Given the description of an element on the screen output the (x, y) to click on. 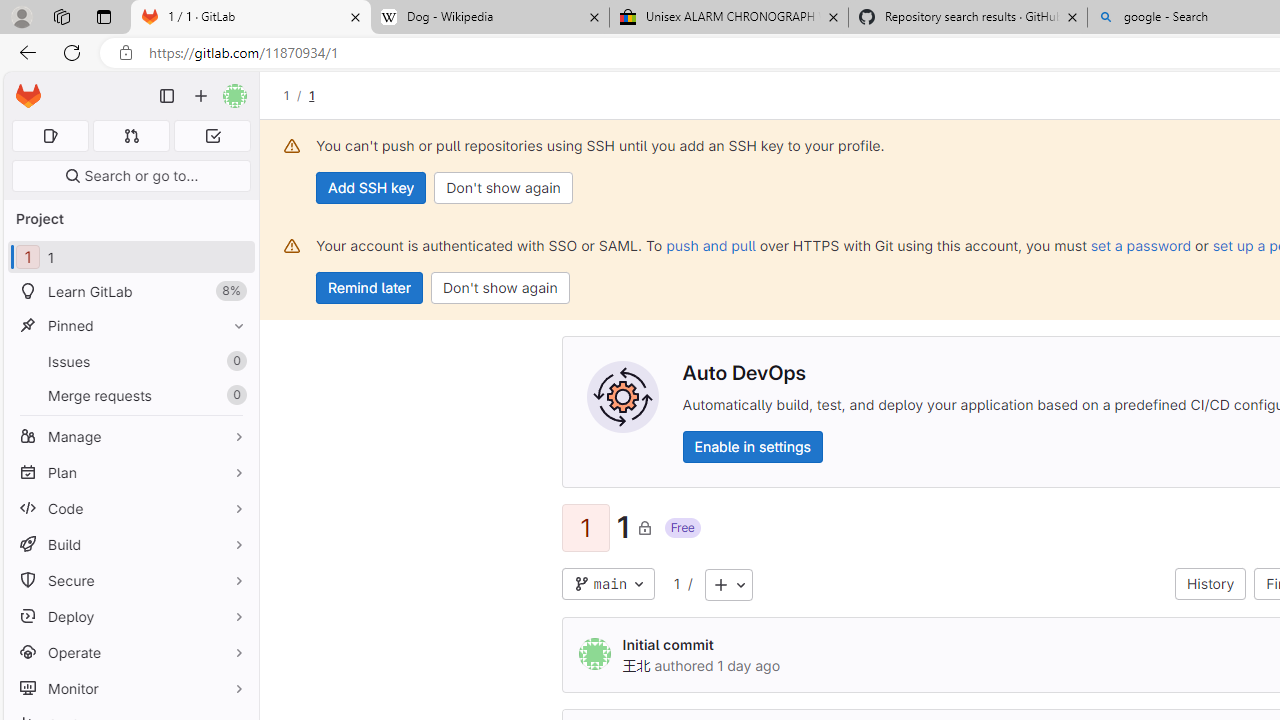
1 1 (130, 257)
Assigned issues 0 (50, 136)
set a password (1140, 245)
Operate (130, 651)
Deploy (130, 615)
Monitor (130, 687)
Learn GitLab 8% (130, 291)
Enable in settings (752, 446)
History (1209, 583)
Monitor (130, 687)
Issues 0 (130, 361)
Create new... (201, 96)
Build (130, 543)
Dog - Wikipedia (490, 17)
